Given the description of an element on the screen output the (x, y) to click on. 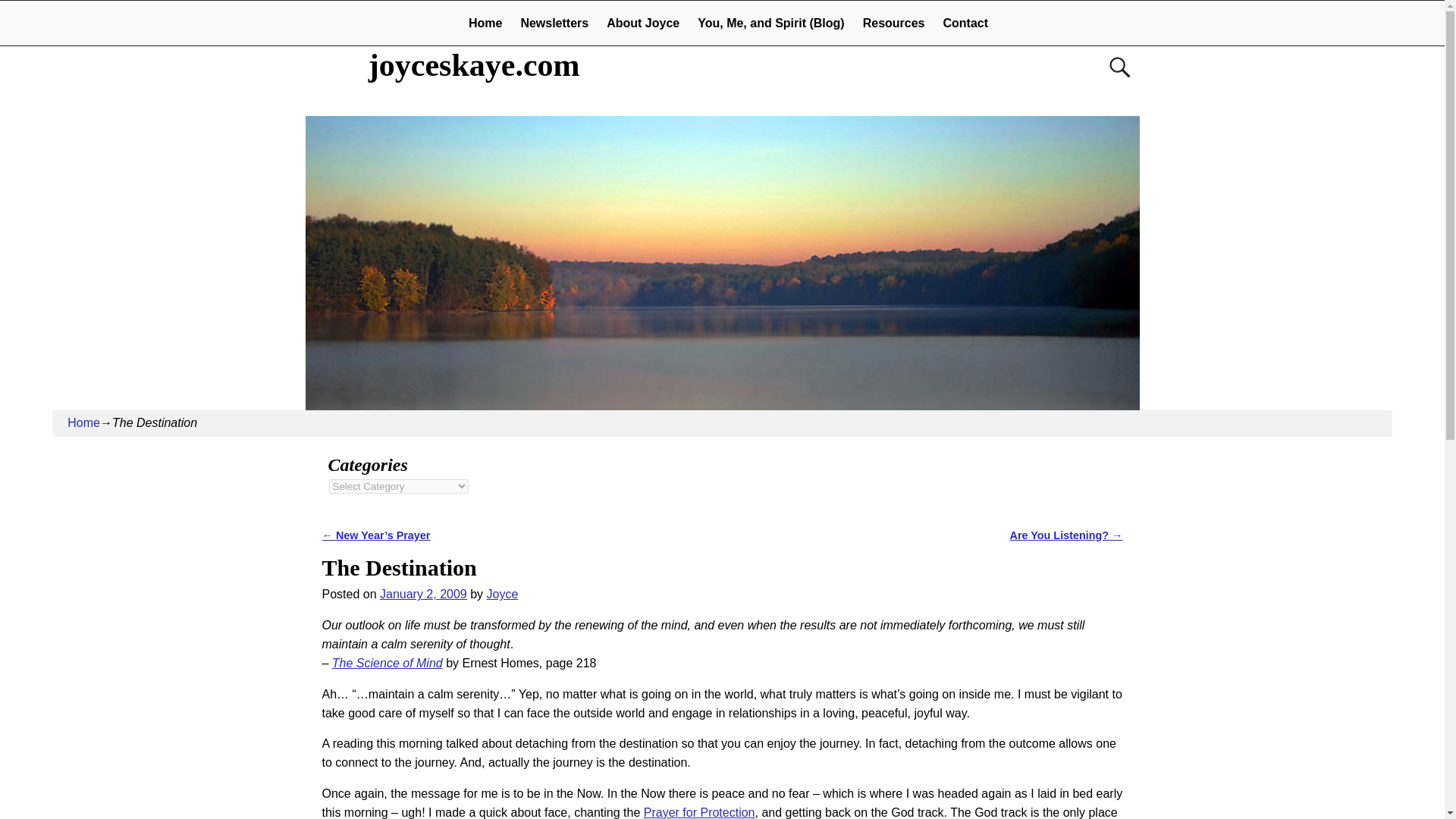
Prayer for Protection (699, 812)
joyceskaye.com (474, 64)
Newsletters (553, 22)
Joyce (502, 594)
Resources (893, 22)
7:17 pm (423, 594)
About Joyce (642, 22)
View all posts by Joyce (502, 594)
January 2, 2009 (423, 594)
Contact (965, 22)
